Given the description of an element on the screen output the (x, y) to click on. 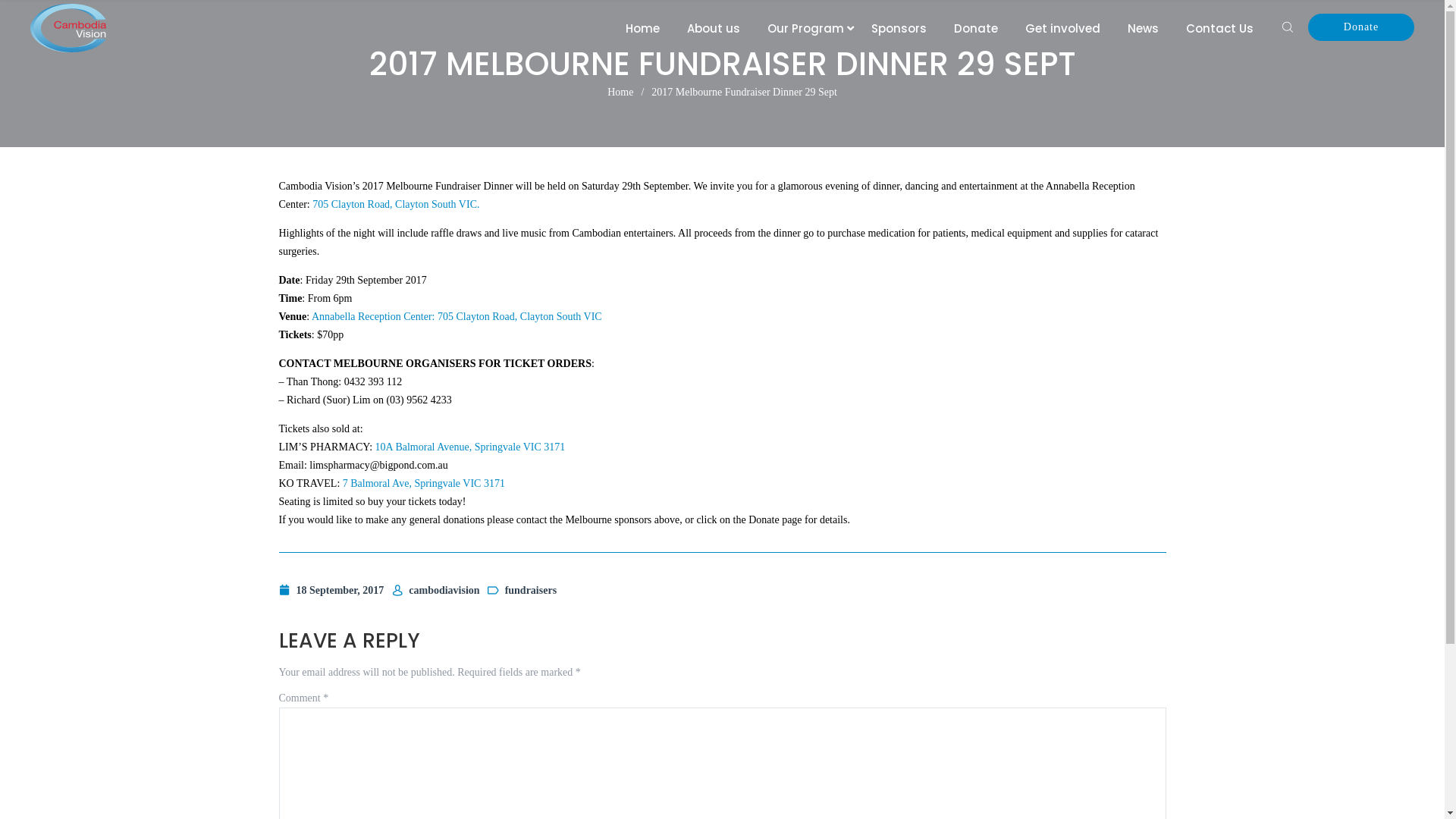
Our Program Element type: text (805, 28)
fundraisers Element type: text (521, 590)
About us Element type: text (713, 28)
Donate Element type: text (1361, 27)
Donate Element type: text (975, 28)
Get involved Element type: text (1062, 28)
705 Clayton Road, Clayton South VIC. Element type: text (395, 204)
News Element type: text (1142, 28)
Contact Us Element type: text (1219, 28)
7 Balmoral Ave, Springvale VIC 3171 Element type: text (422, 483)
Sponsors Element type: text (898, 28)
Home Element type: text (642, 28)
10A Balmoral Avenue, Springvale VIC 3171 Element type: text (470, 446)
Home Element type: text (620, 91)
cambodiavision Element type: text (435, 590)
